Given the description of an element on the screen output the (x, y) to click on. 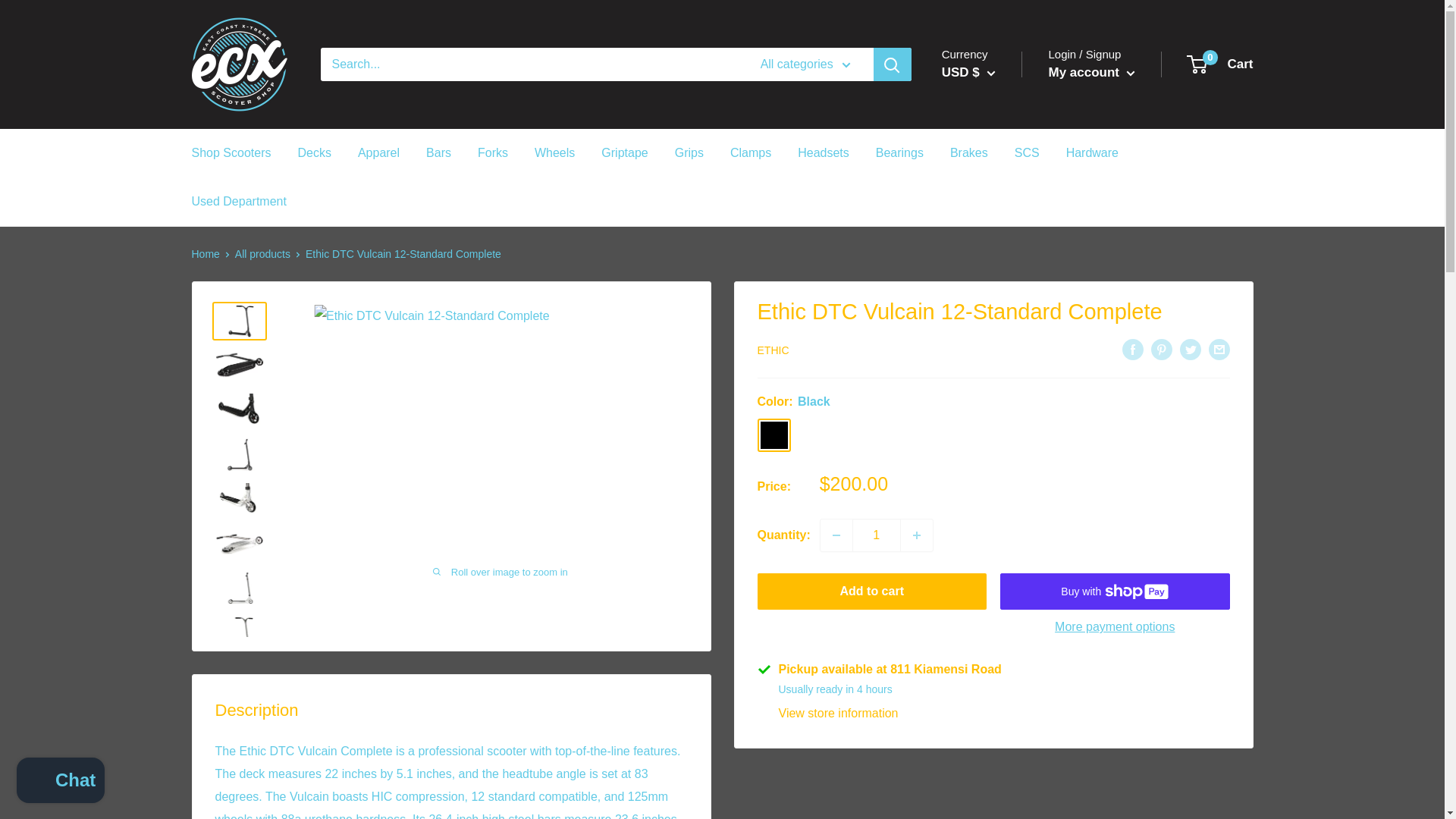
AMD (992, 283)
BDT (992, 445)
Black (773, 434)
Increase quantity by 1 (917, 535)
AUD (992, 329)
AZN (992, 376)
BBD (992, 421)
ALL (992, 260)
AWG (992, 353)
BND (992, 492)
